Given the description of an element on the screen output the (x, y) to click on. 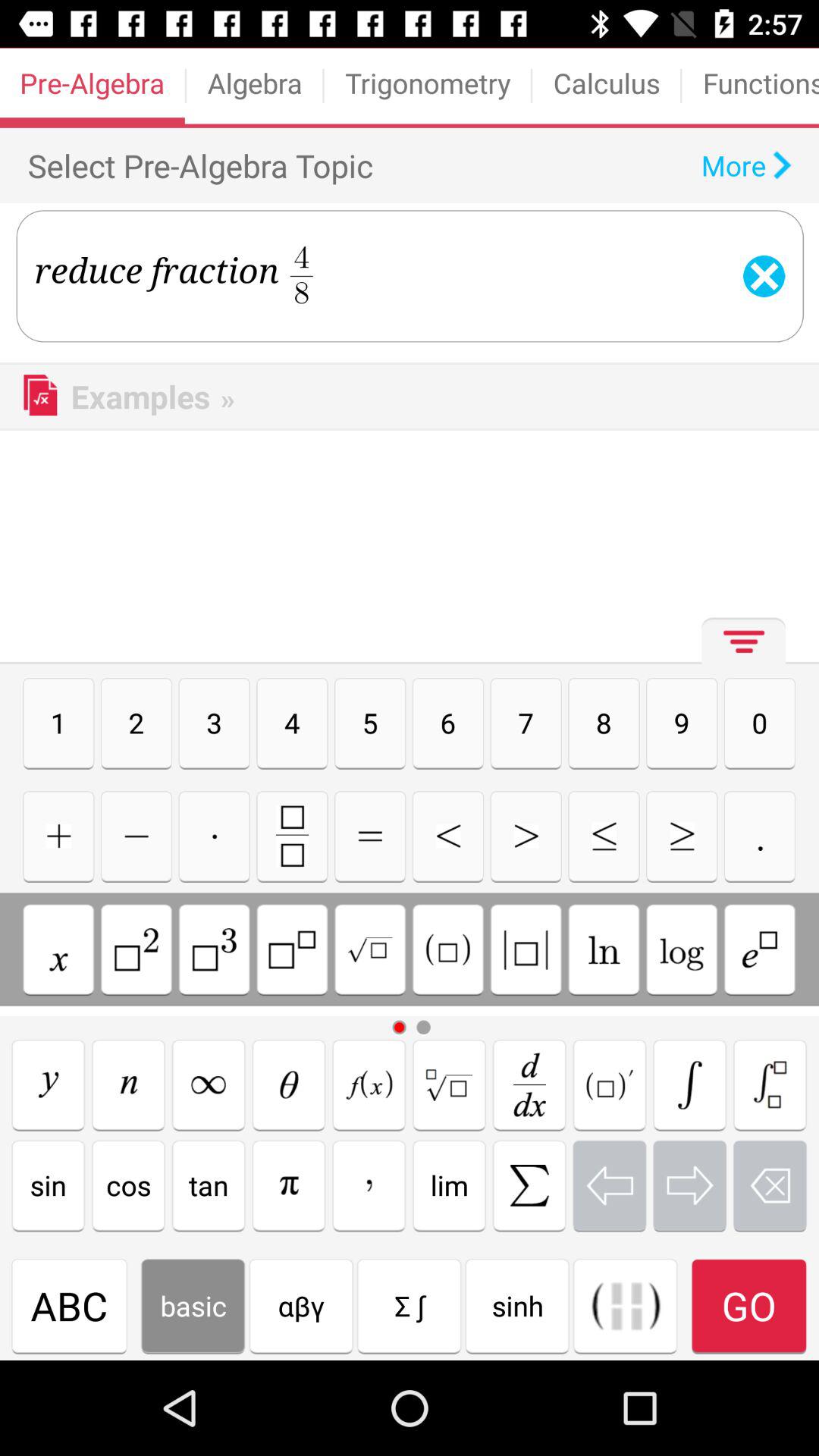
keyword symbol (603, 835)
